Given the description of an element on the screen output the (x, y) to click on. 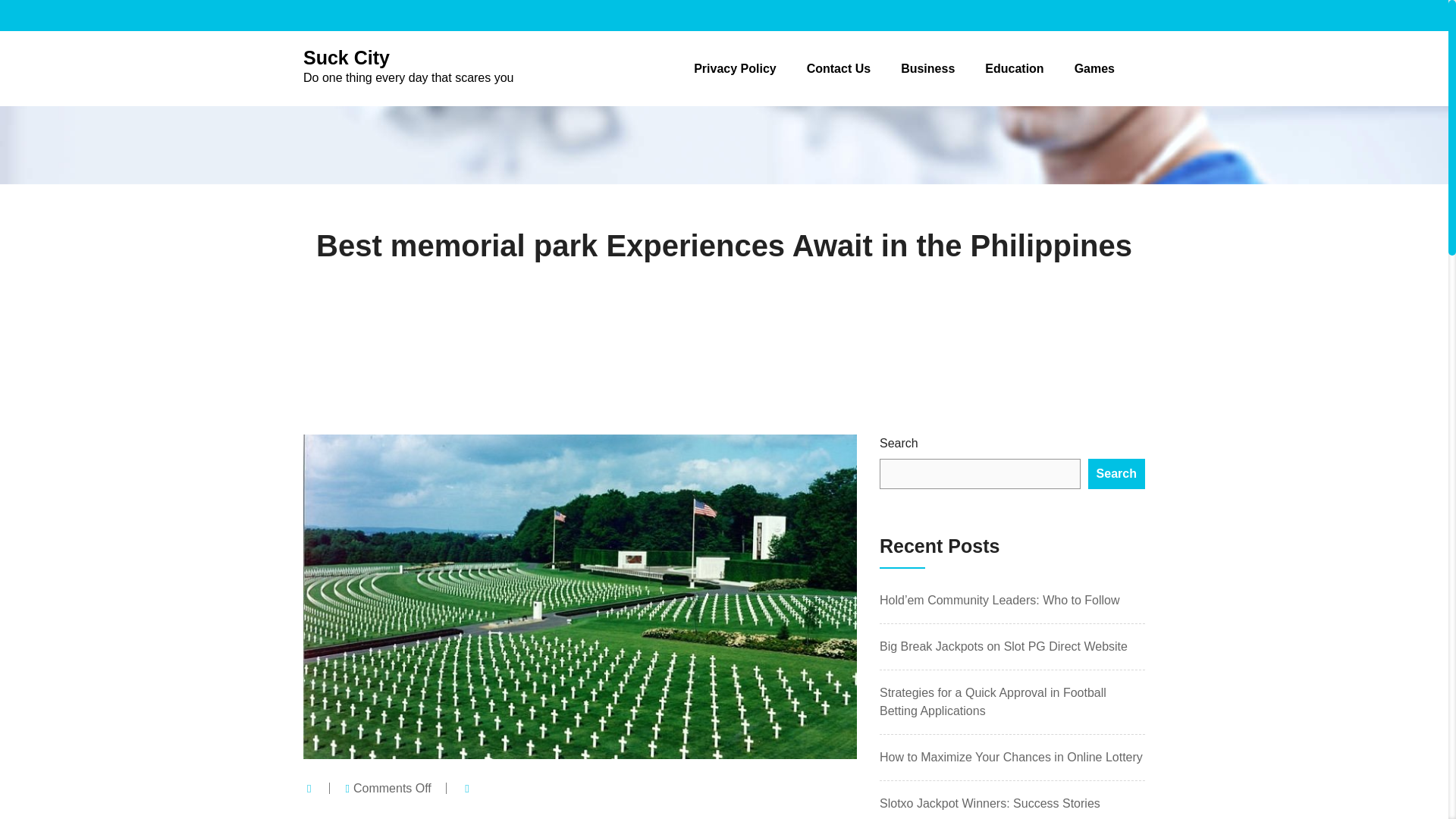
Slotxo Jackpot Winners: Success Stories (989, 802)
Privacy Policy (735, 68)
Best memorial park Experiences Await in the Philippines (723, 245)
Business (407, 65)
Contact Us (928, 68)
Search (838, 68)
Big Break Jackpots on Slot PG Direct Website (1115, 473)
How to Maximize Your Chances in Online Lottery (1002, 645)
